Given the description of an element on the screen output the (x, y) to click on. 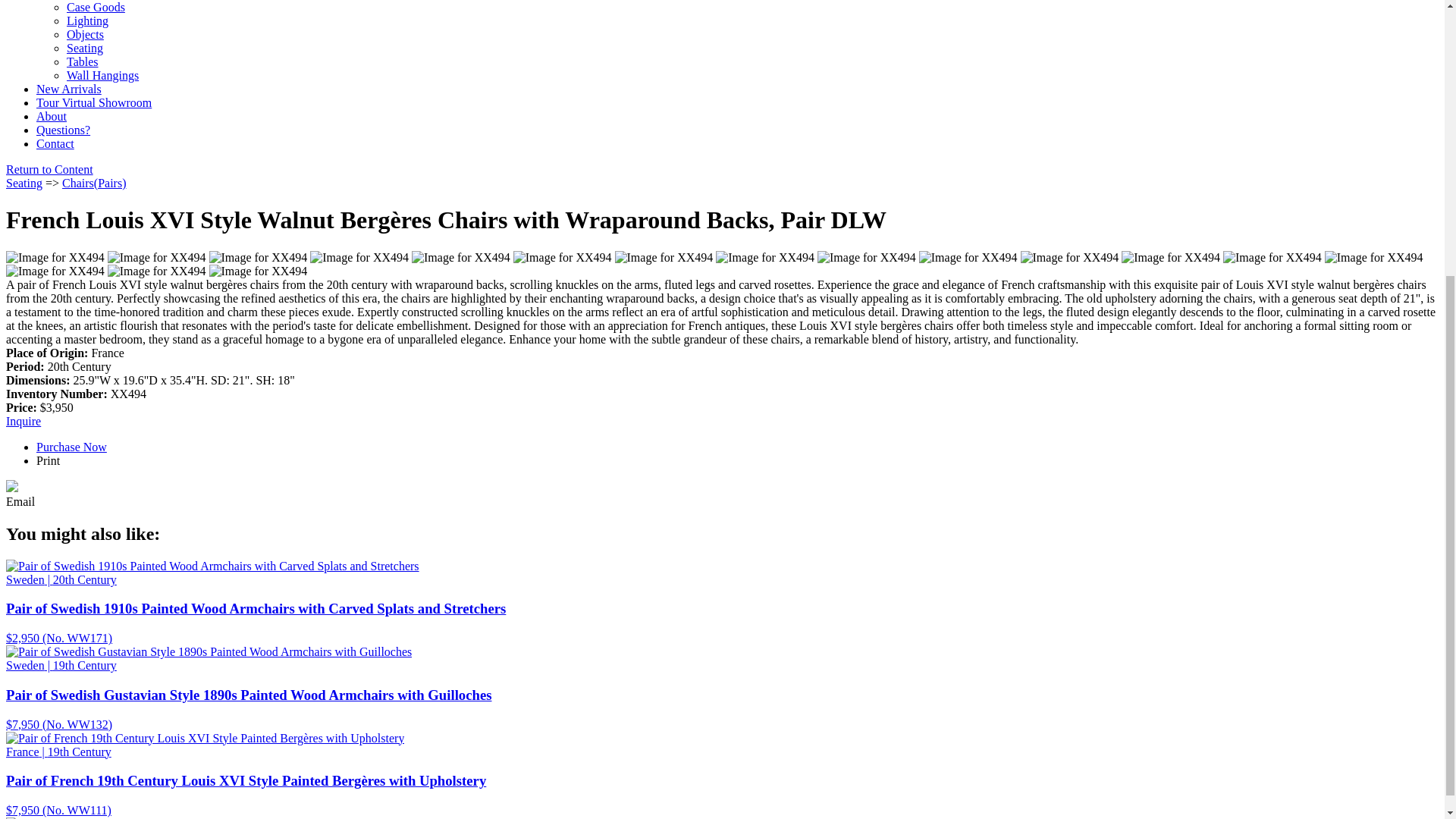
Wall Hangings (102, 74)
Tour Virtual Showroom (93, 102)
Seating (84, 47)
Return to Content (49, 169)
Purchase Now (22, 420)
Purchase Now (71, 446)
Inquire (22, 420)
Seating (23, 182)
Objects (84, 33)
Tables (82, 61)
